Given the description of an element on the screen output the (x, y) to click on. 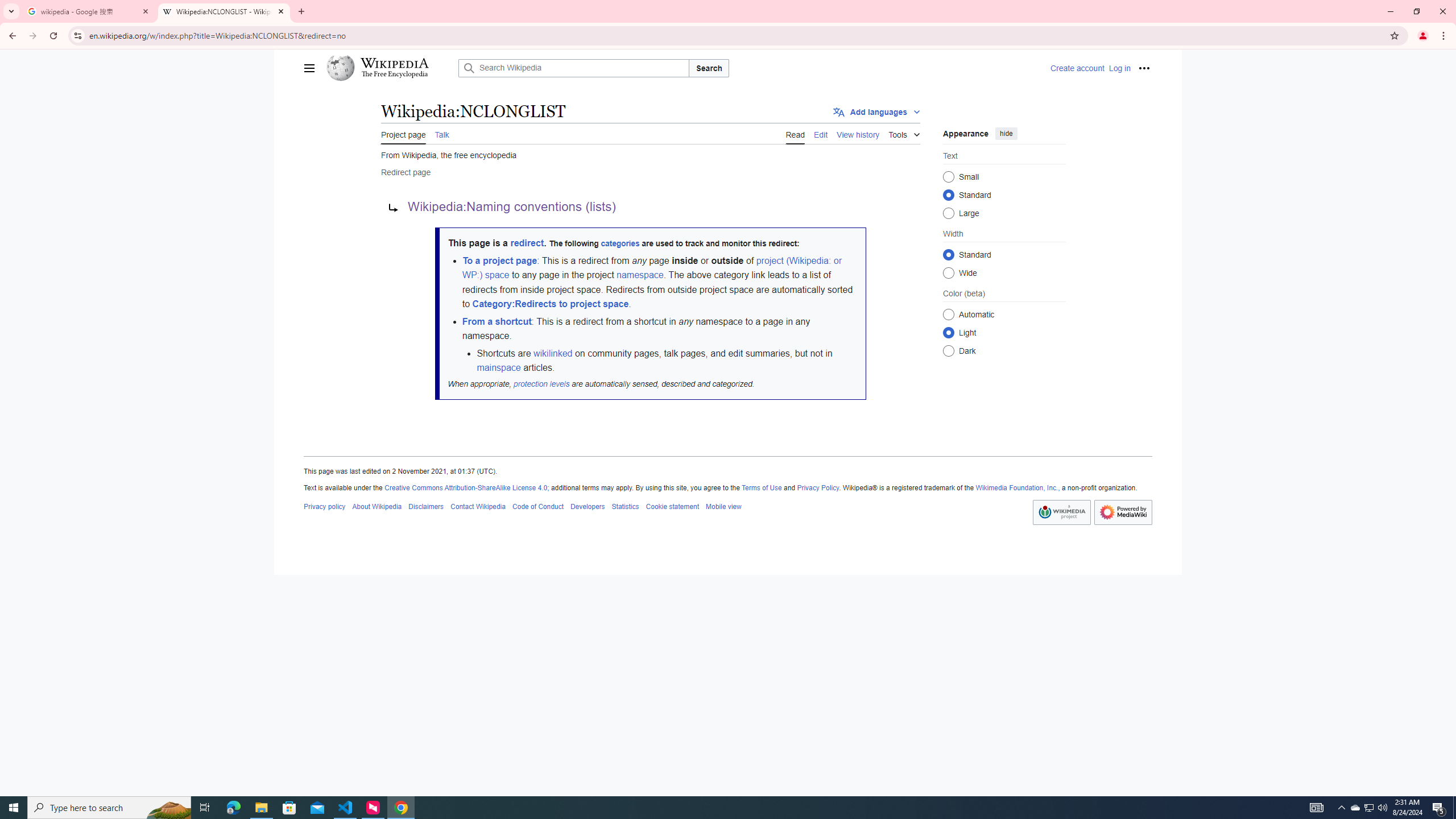
project (Wikipedia: or WP:) space (651, 267)
AutomationID: footer-copyrightico (1061, 512)
Search (708, 67)
Address and search bar (735, 35)
Personal tools (1144, 67)
Contact Wikipedia (477, 506)
namespace (639, 275)
AutomationID: ca-talk (441, 133)
Main menu (308, 67)
Statistics (625, 506)
View site information (77, 35)
Log in (1119, 67)
categories (619, 243)
Forward (32, 35)
